Given the description of an element on the screen output the (x, y) to click on. 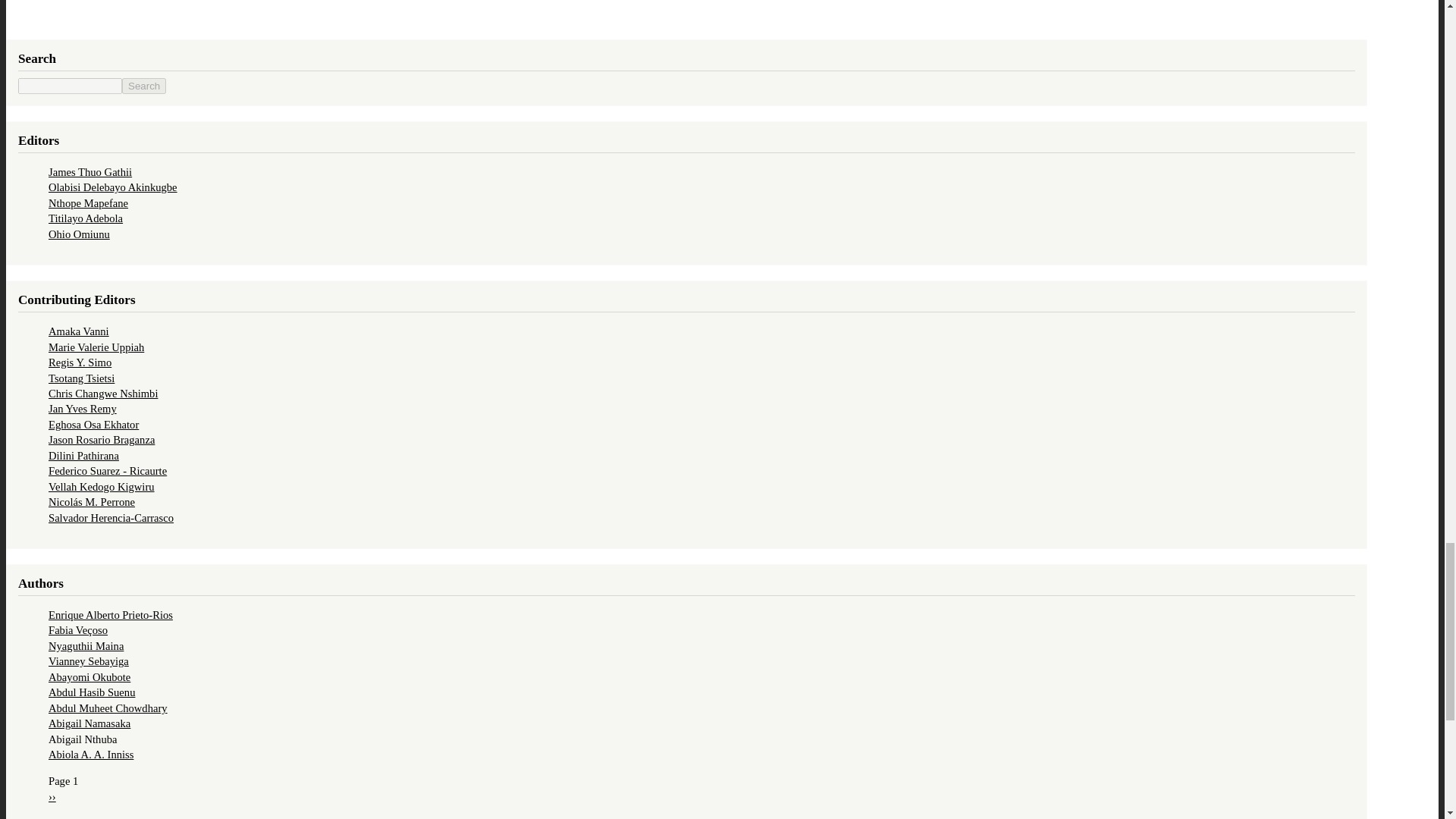
Enter the terms you wish to search for. (69, 85)
